Given the description of an element on the screen output the (x, y) to click on. 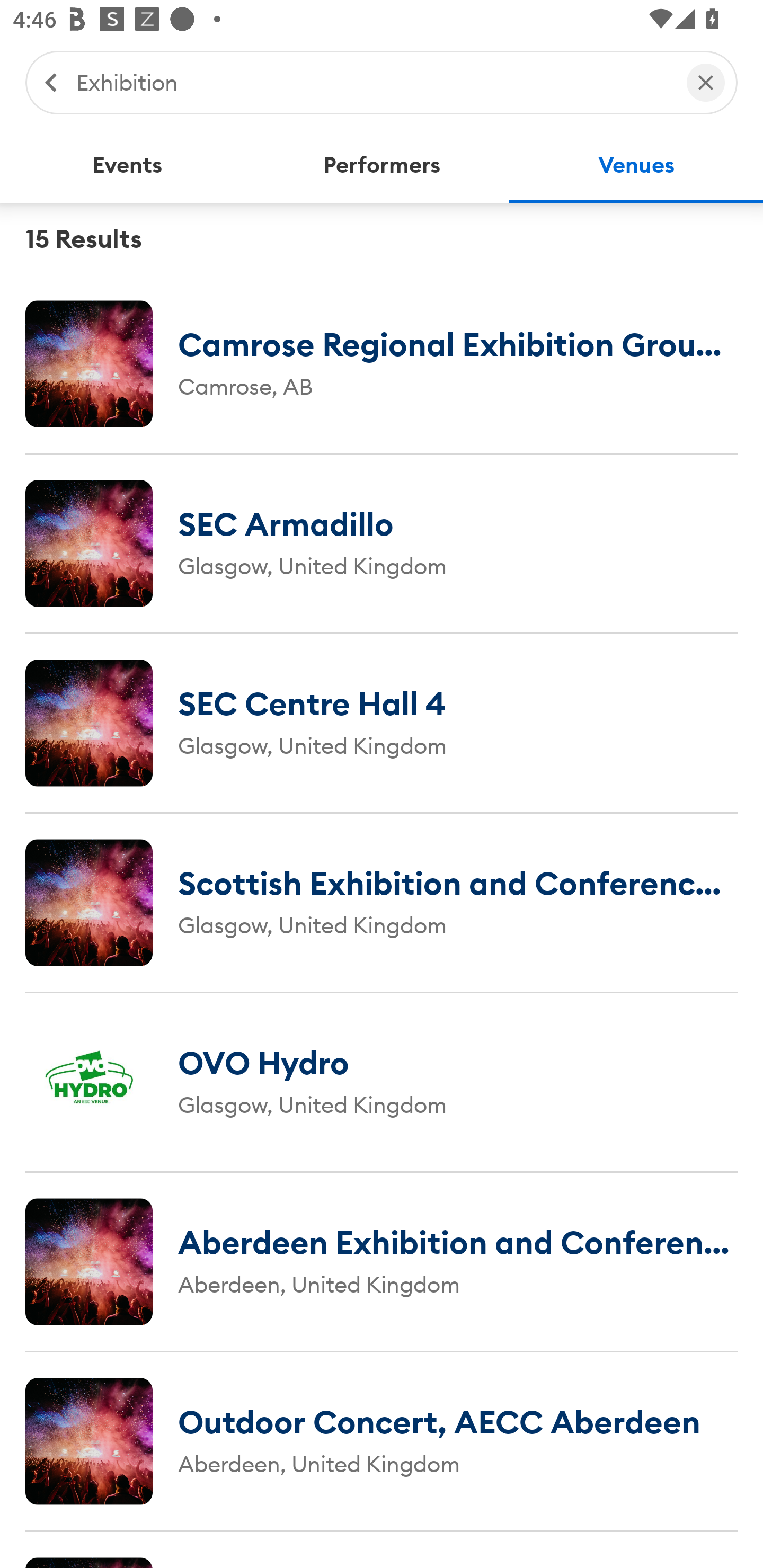
Exhibition (371, 81)
Clear Search (705, 81)
Events (127, 165)
Performers (381, 165)
Camrose Regional Exhibition Grounds Camrose, AB (381, 363)
SEC Armadillo Glasgow, United Kingdom (381, 542)
SEC Centre Hall 4 Glasgow, United Kingdom (381, 722)
OVO Hydro Glasgow, United Kingdom (381, 1081)
